Given the description of an element on the screen output the (x, y) to click on. 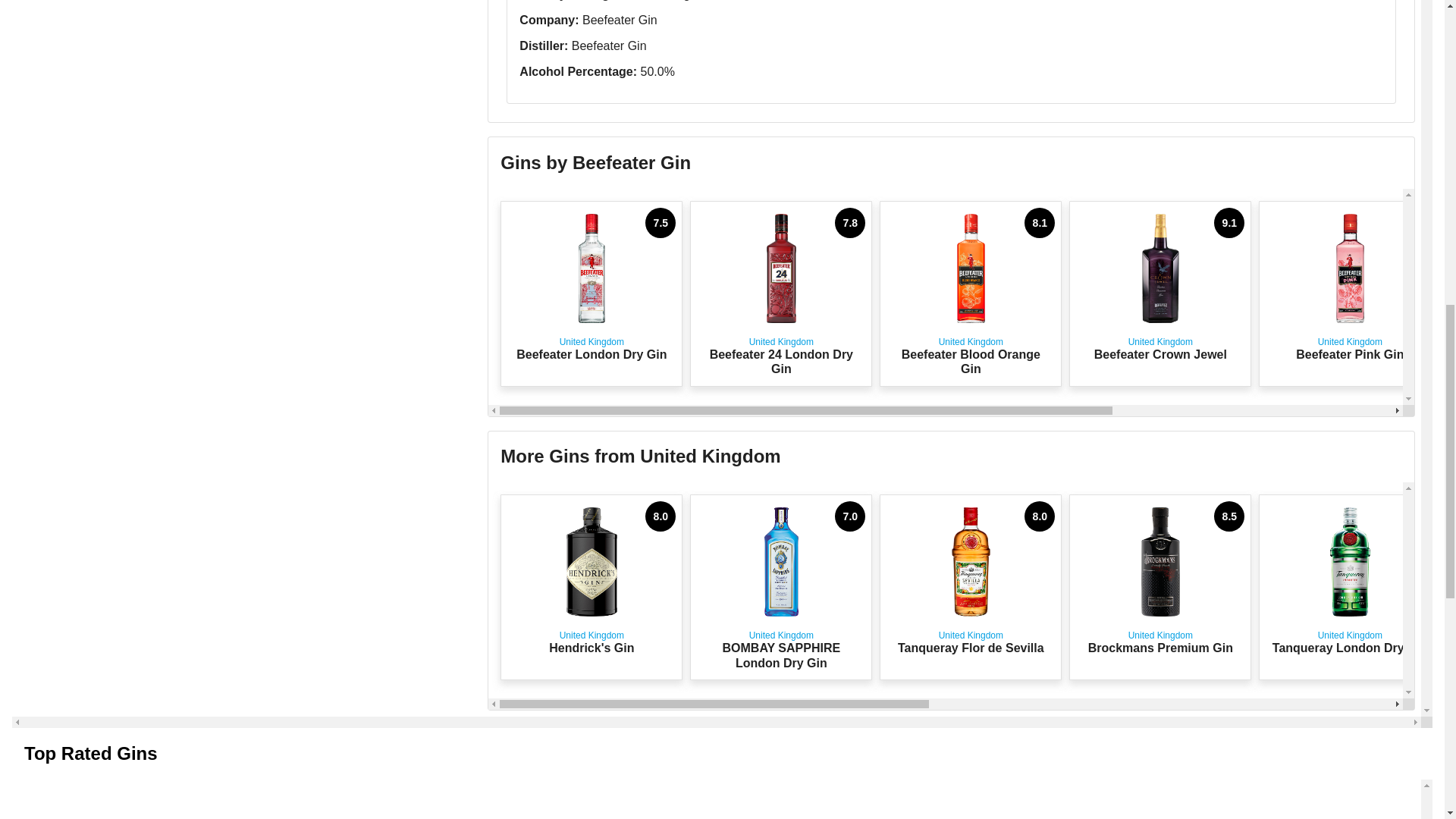
United Kingdom (1350, 293)
Beefeater Gin (970, 587)
